Given the description of an element on the screen output the (x, y) to click on. 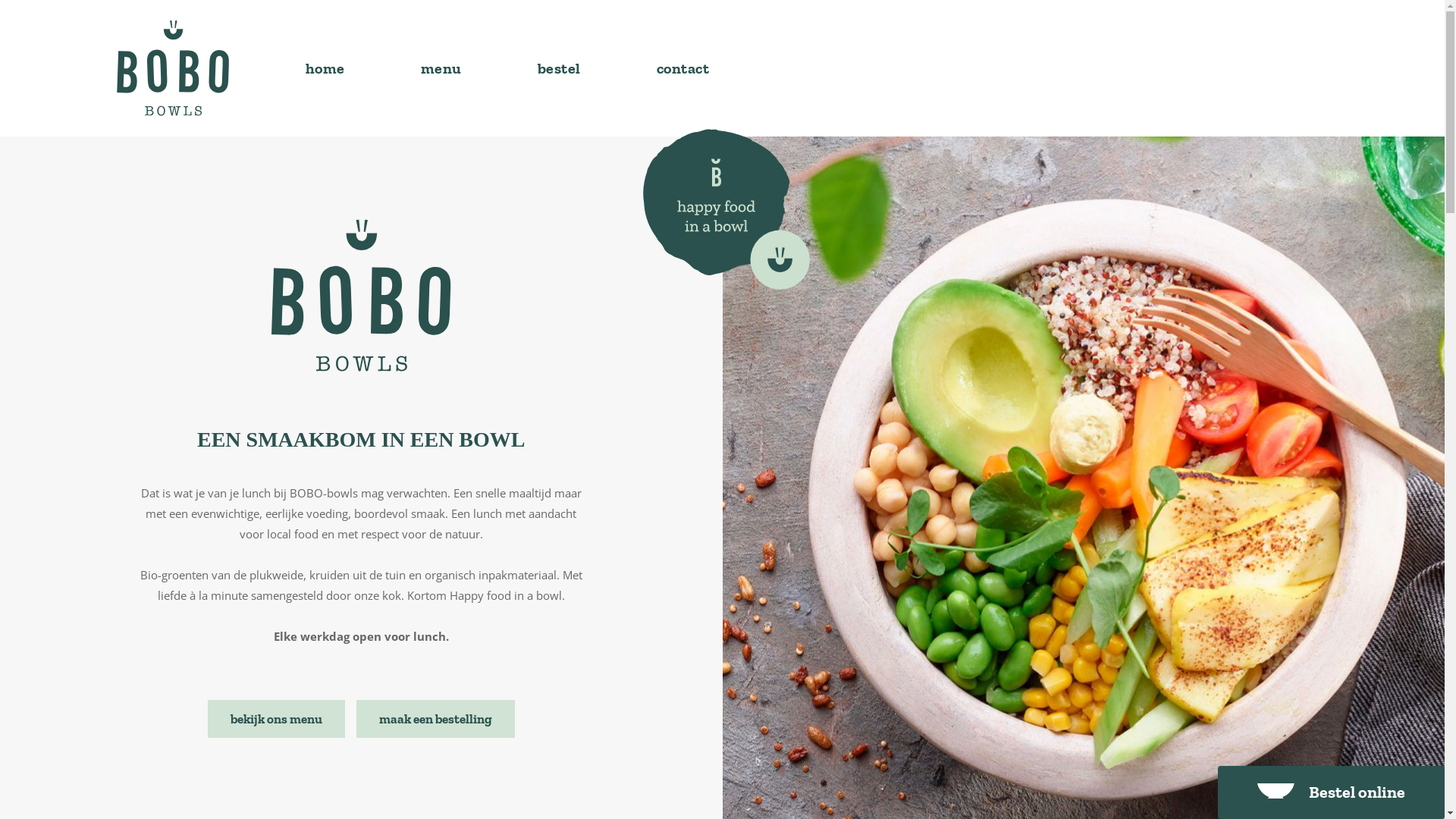
contact Element type: text (682, 68)
bestel Element type: text (558, 68)
home Element type: text (324, 68)
menu Element type: text (440, 68)
bekijk ons menu Element type: text (276, 718)
maak een bestelling Element type: text (435, 718)
